Given the description of an element on the screen output the (x, y) to click on. 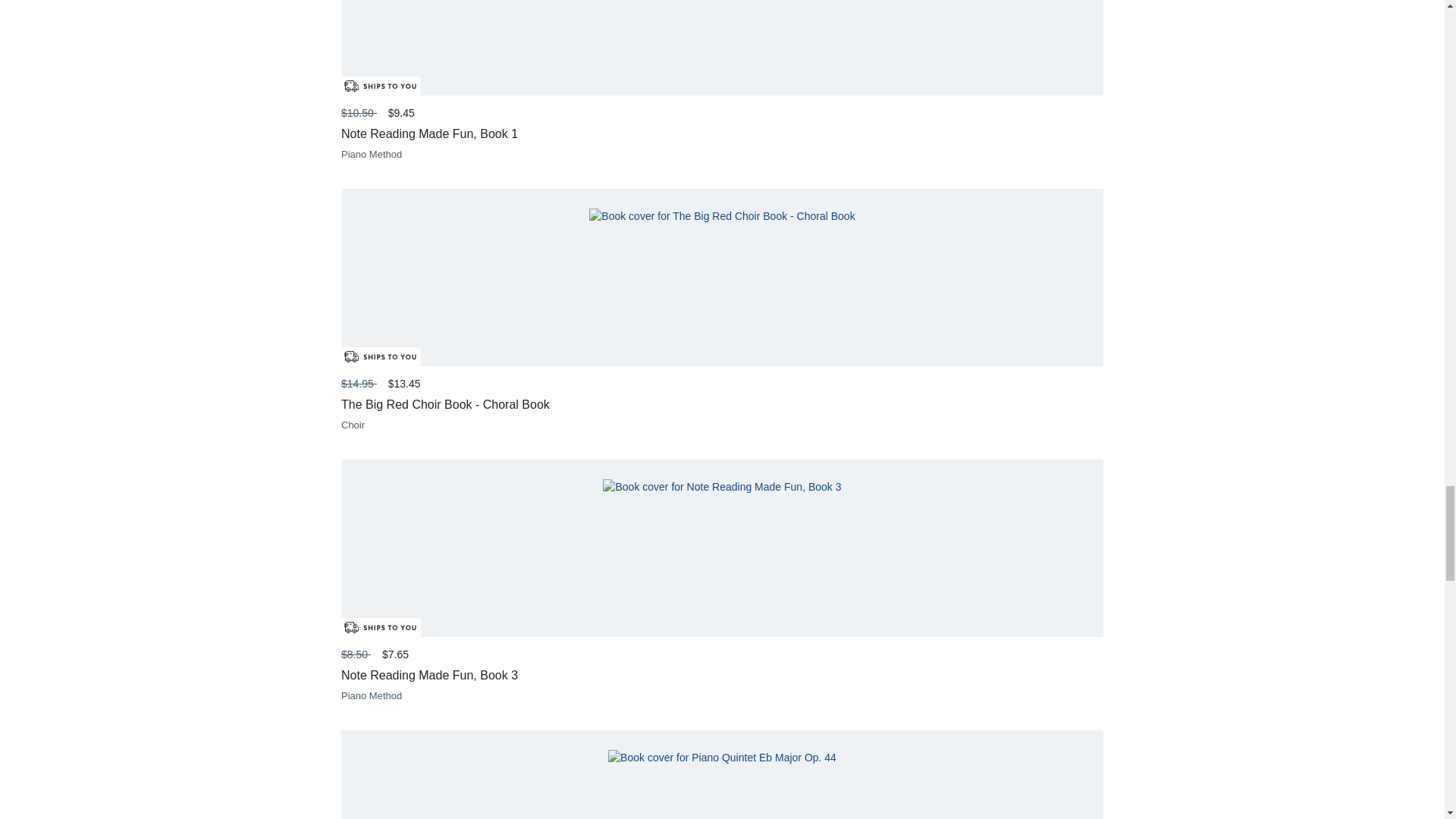
Book cover for The Big Red Choir Book - Choral Book (721, 216)
